Given the description of an element on the screen output the (x, y) to click on. 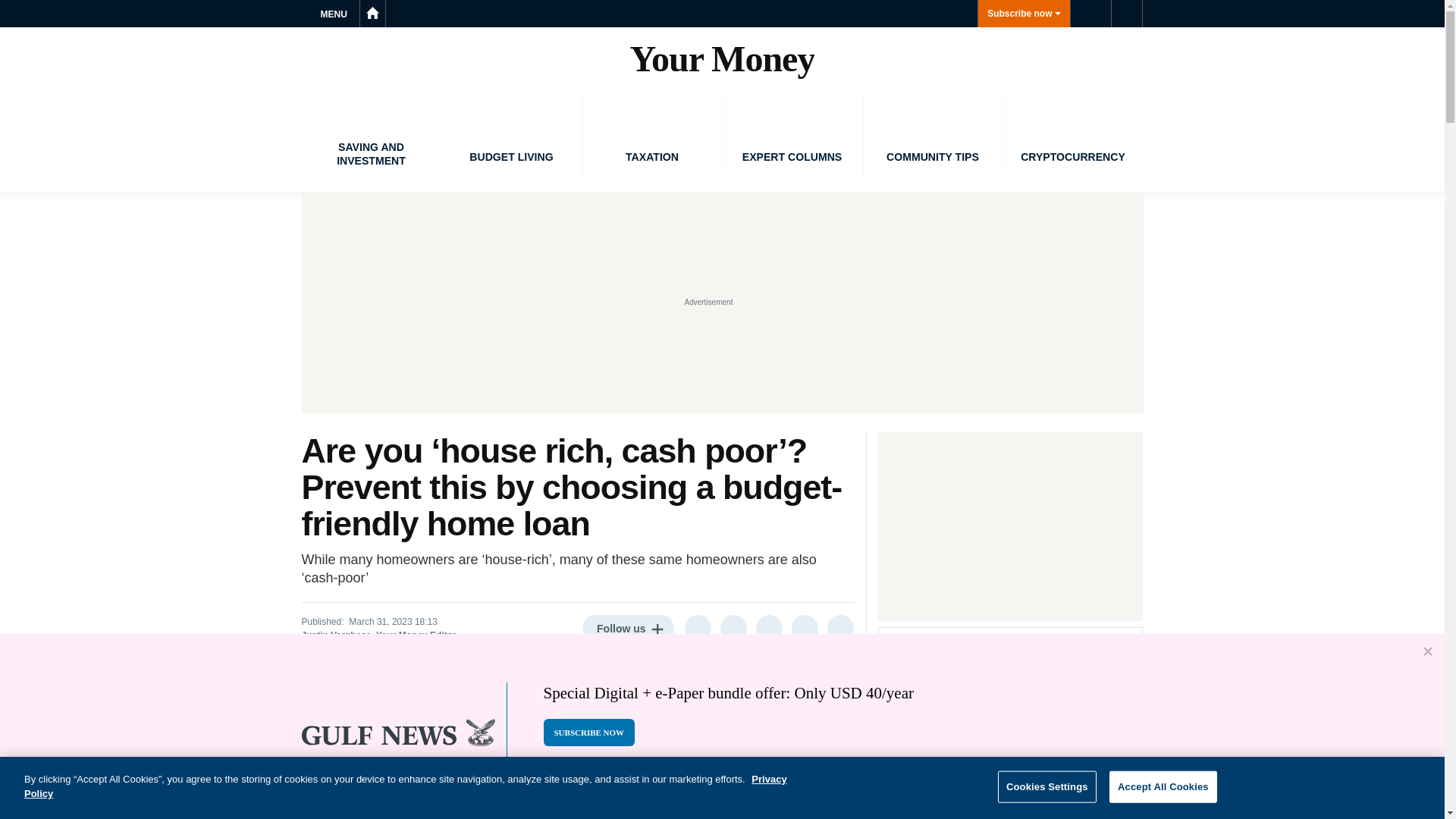
MENU (336, 13)
Subscribe now (1024, 13)
